Given the description of an element on the screen output the (x, y) to click on. 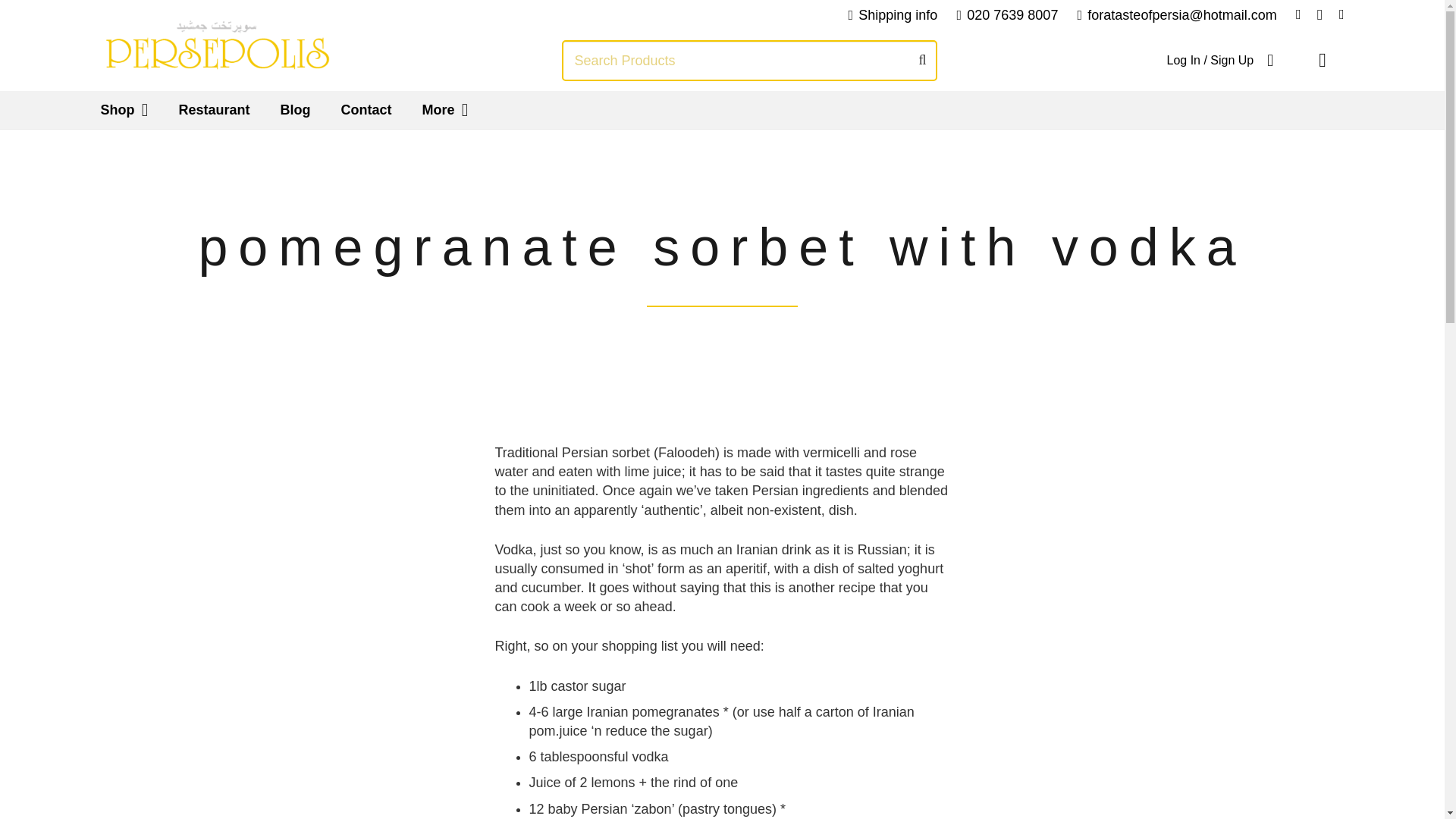
More (444, 109)
Blog (294, 109)
Restaurant (213, 109)
020 7639 8007 (1007, 14)
Shop (123, 109)
Shipping info (892, 14)
Contact (365, 109)
